Given the description of an element on the screen output the (x, y) to click on. 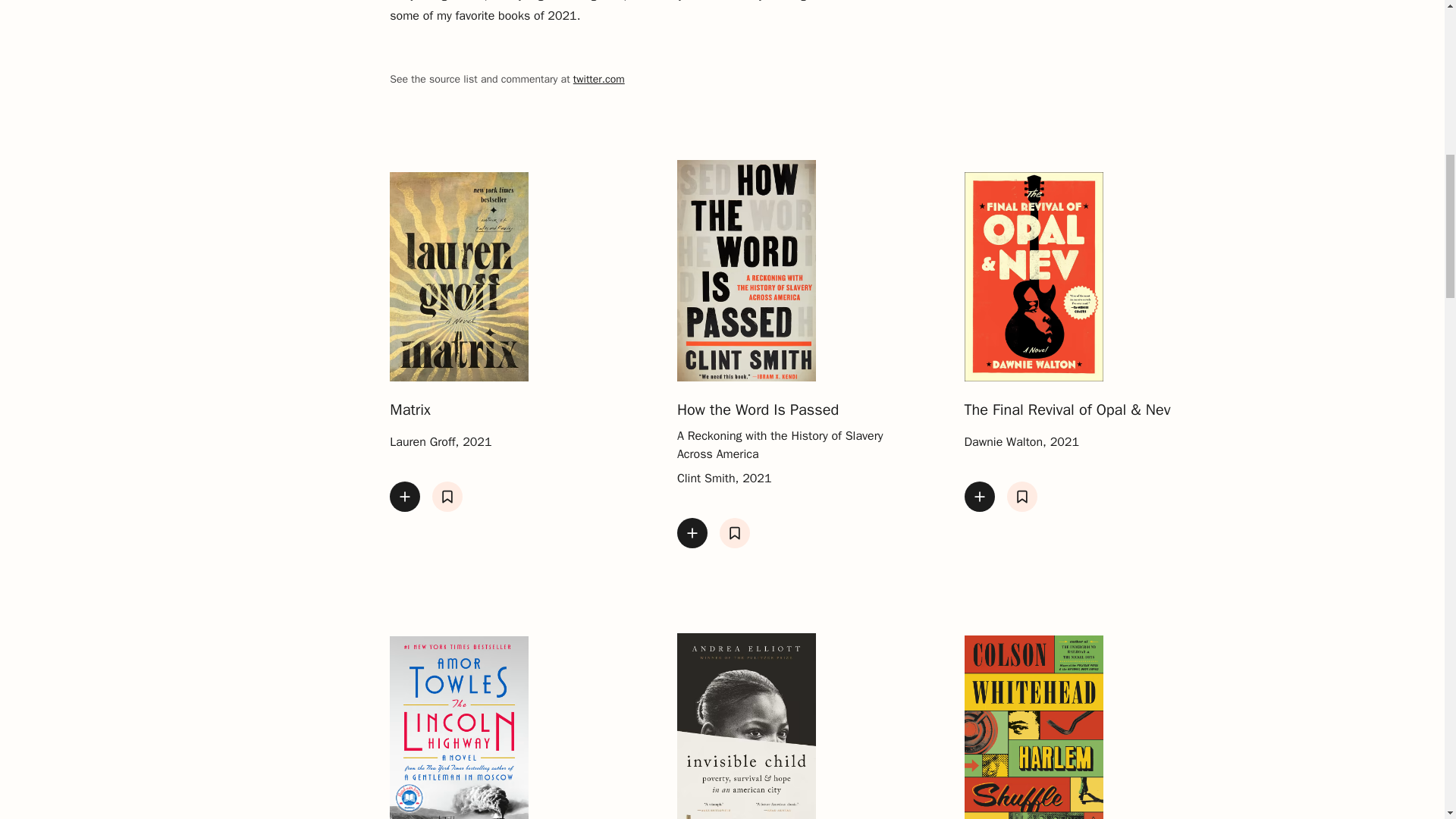
twitter.com (598, 78)
